Given the description of an element on the screen output the (x, y) to click on. 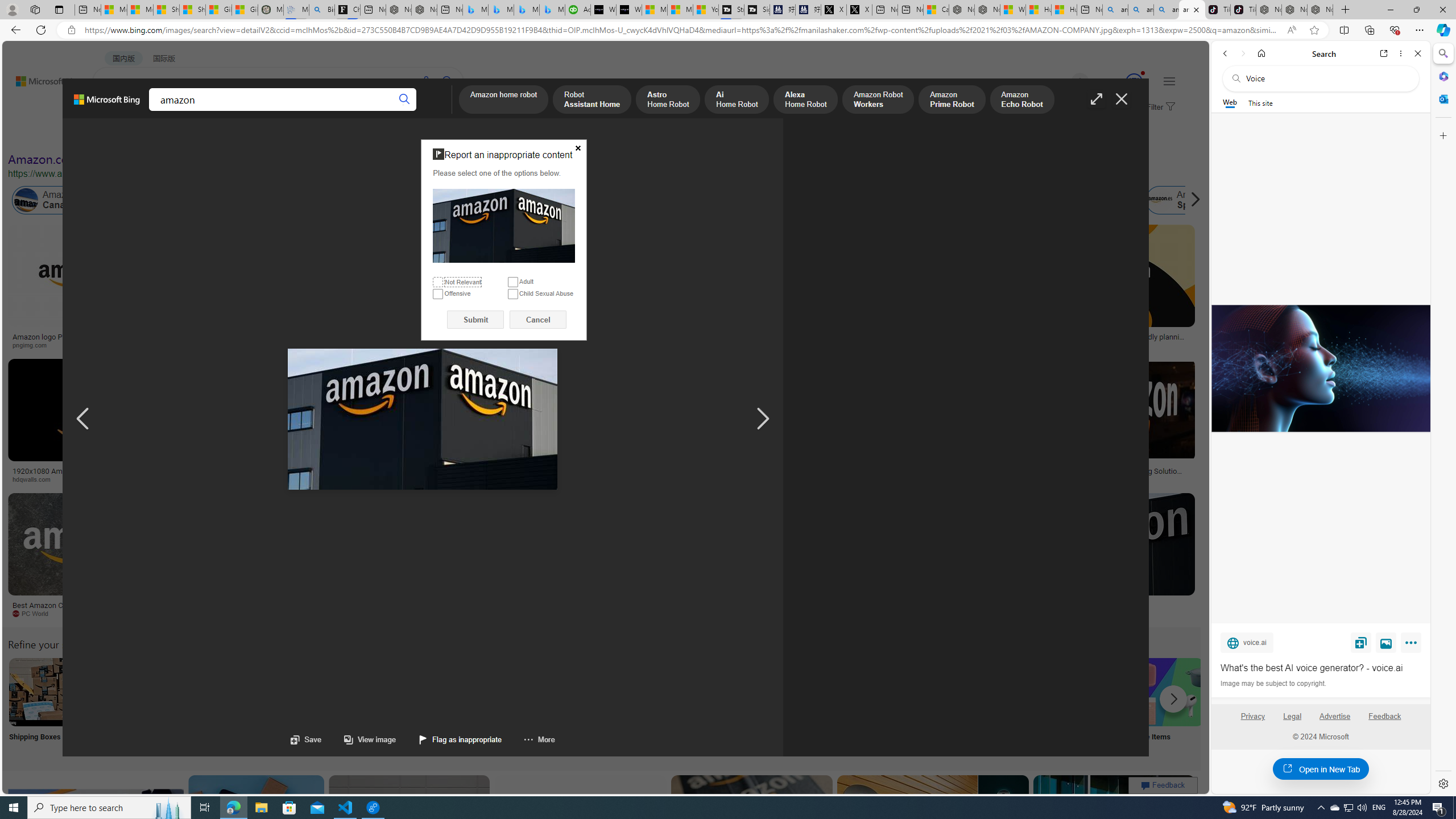
Amazon Prime Membership (753, 200)
Amazon Prime Label (1018, 691)
License (378, 135)
Robot Assistant Home (592, 100)
TikTok (1242, 9)
Marketplace (459, 479)
